Given the description of an element on the screen output the (x, y) to click on. 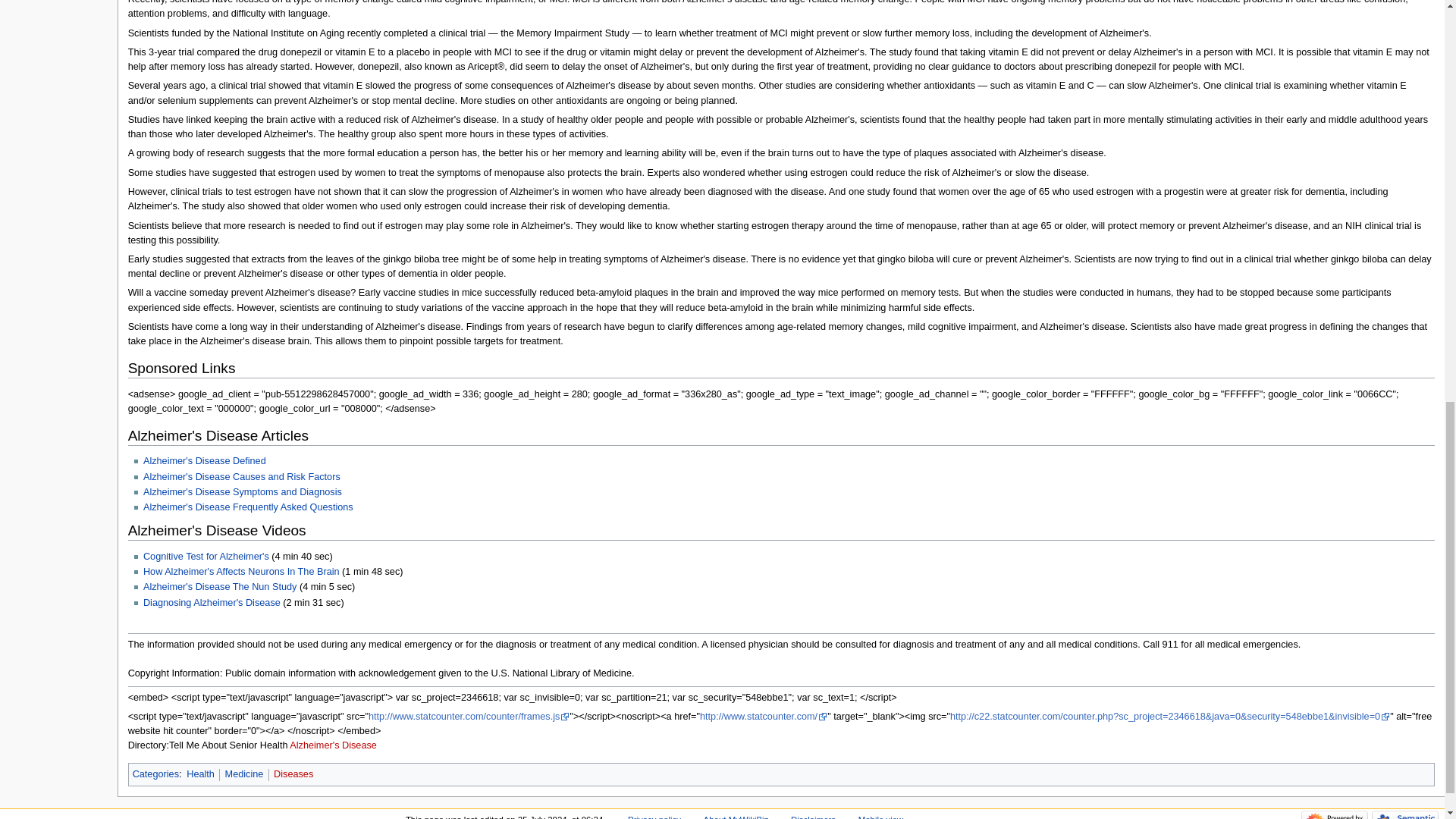
Alzheimer's Disease Defined (204, 460)
Alzheimer's Disease Causes and Risk Factors (241, 476)
Category:Health (200, 774)
Medicine (244, 774)
Diagnosing Alzheimer's Disease (211, 602)
Diseases (293, 774)
Categories (155, 774)
Cognitive Test for Alzheimer's (205, 556)
How Alzheimer's Affects Neurons In The Brain (240, 571)
Alzheimer's Disease The Nun Study (219, 586)
Alzheimer's Disease Frequently Asked Questions (247, 507)
Health (200, 774)
Alzheimer's Disease Symptoms and Diagnosis (242, 491)
Alzheimer's Disease (333, 745)
Special:Categories (155, 774)
